Given the description of an element on the screen output the (x, y) to click on. 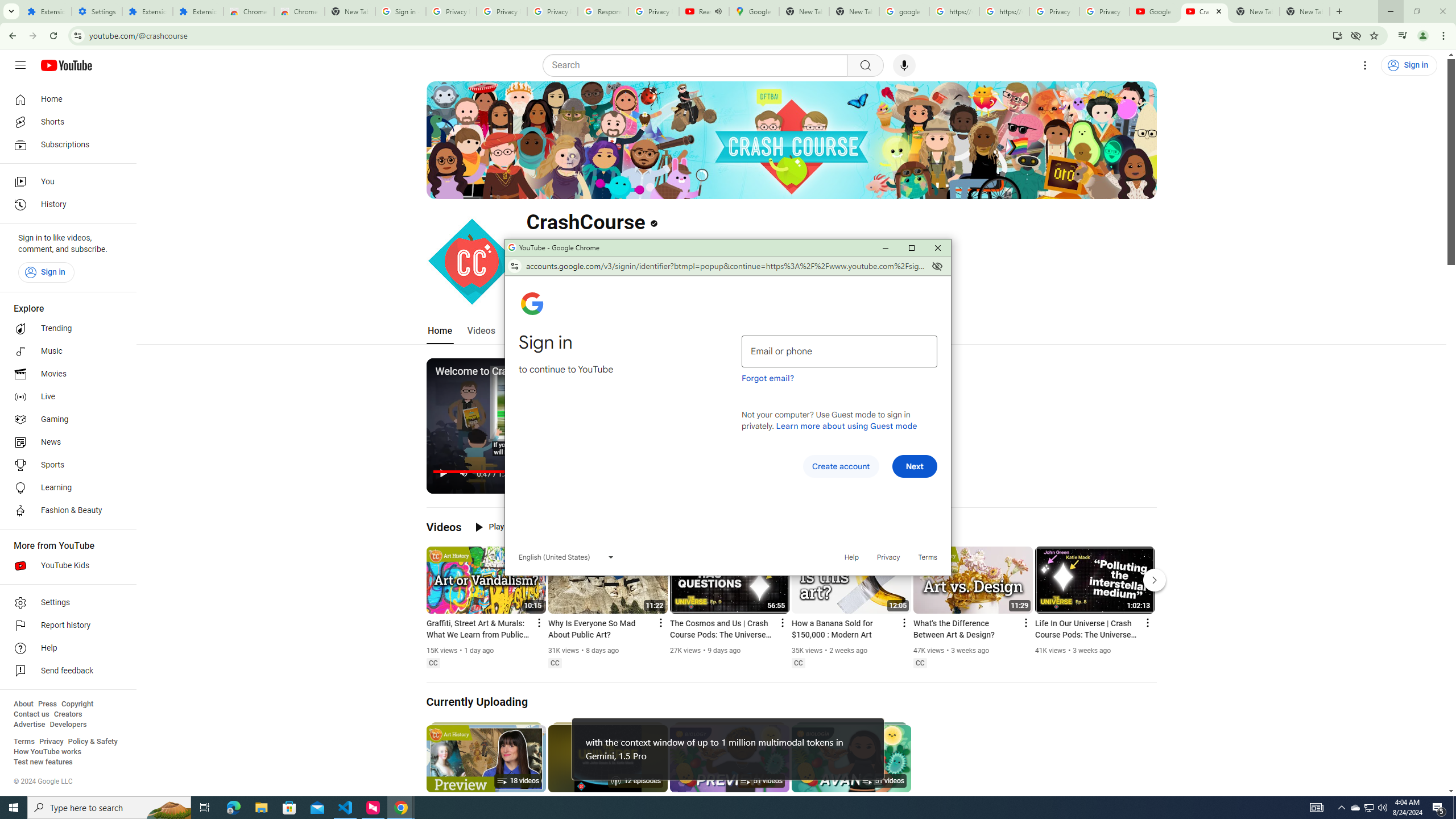
Action menu (1146, 622)
Google - YouTube (1154, 11)
Test new features (42, 761)
Subscriptions (64, 144)
Extensions (197, 11)
Action Center, 5 new notifications (1439, 807)
Trending (64, 328)
Help (851, 556)
Search with your voice (903, 65)
